Given the description of an element on the screen output the (x, y) to click on. 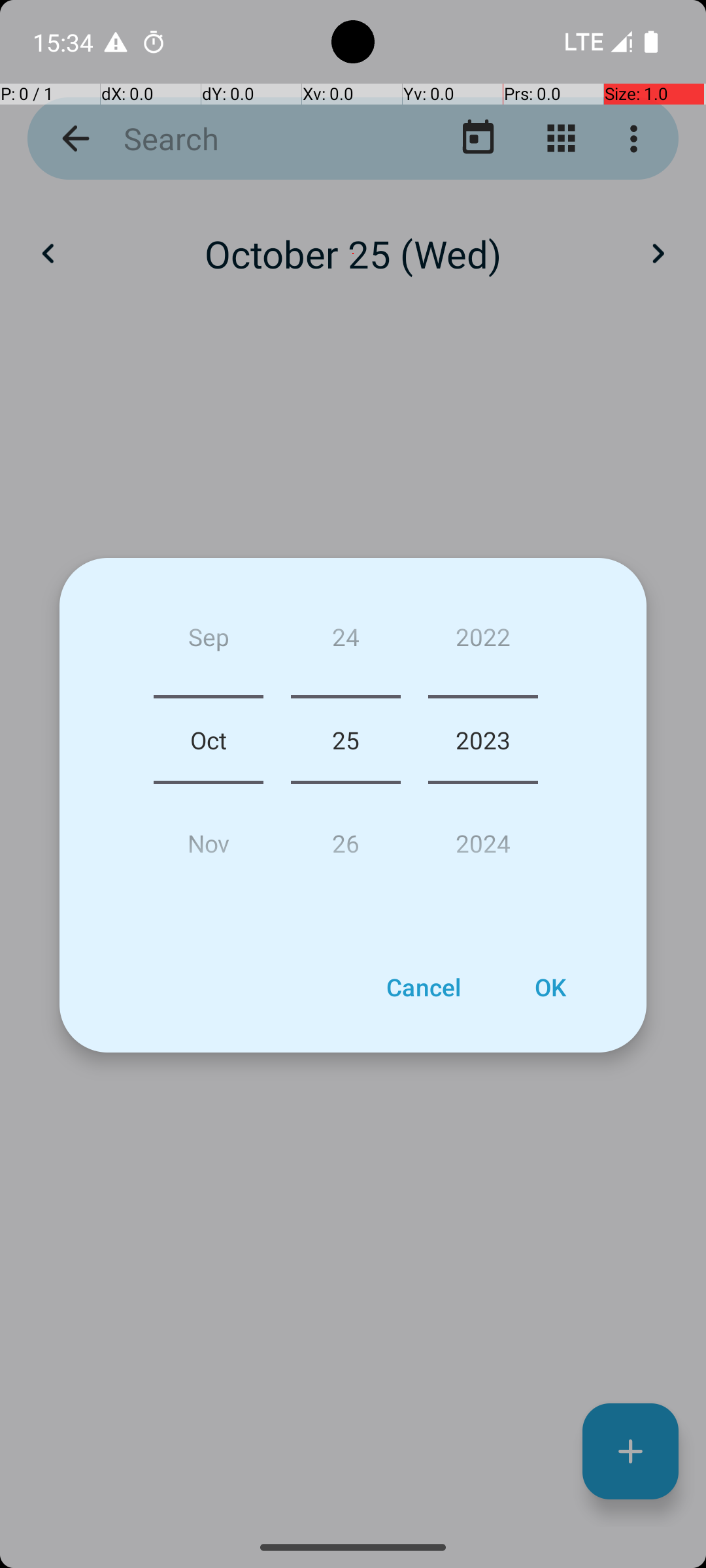
Nov Element type: android.widget.Button (208, 837)
2022 Element type: android.widget.Button (482, 641)
2024 Element type: android.widget.Button (482, 837)
